Given the description of an element on the screen output the (x, y) to click on. 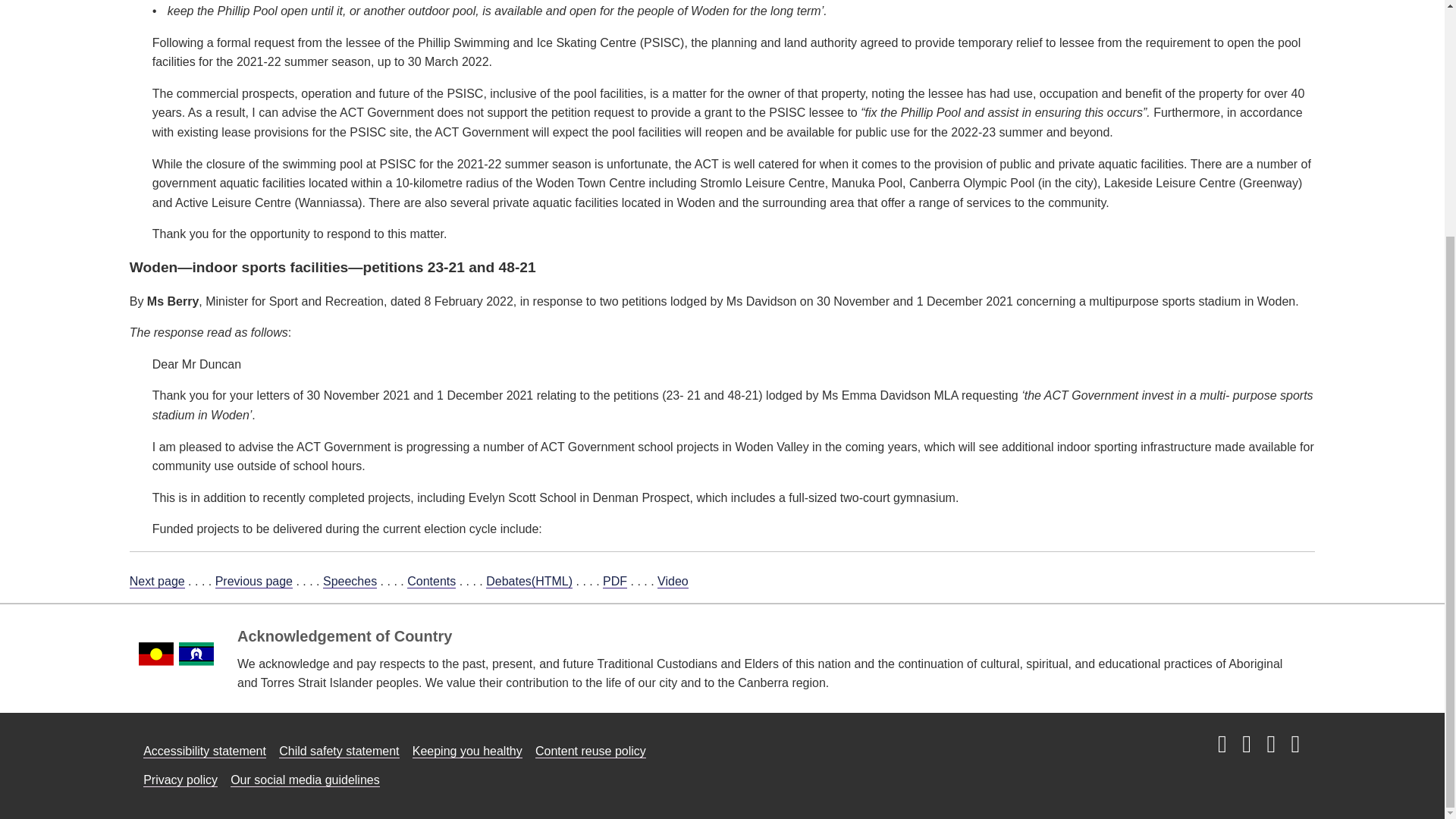
PDF (614, 581)
Keeping you healthy (467, 751)
Previous page (253, 581)
Next page (156, 581)
Accessibility statement (204, 751)
Read our social media guidelines (305, 780)
Privacy policy (179, 780)
Content reuse policy (590, 751)
Read our privacy policy (179, 780)
Read our content sharing and re-use policy (590, 751)
Contents (431, 581)
Read about how we're keeping our Assembly healthy (467, 751)
Our social media guidelines (305, 780)
Read our access and inclusion statement (204, 751)
Read our child safety committment (338, 751)
